Given the description of an element on the screen output the (x, y) to click on. 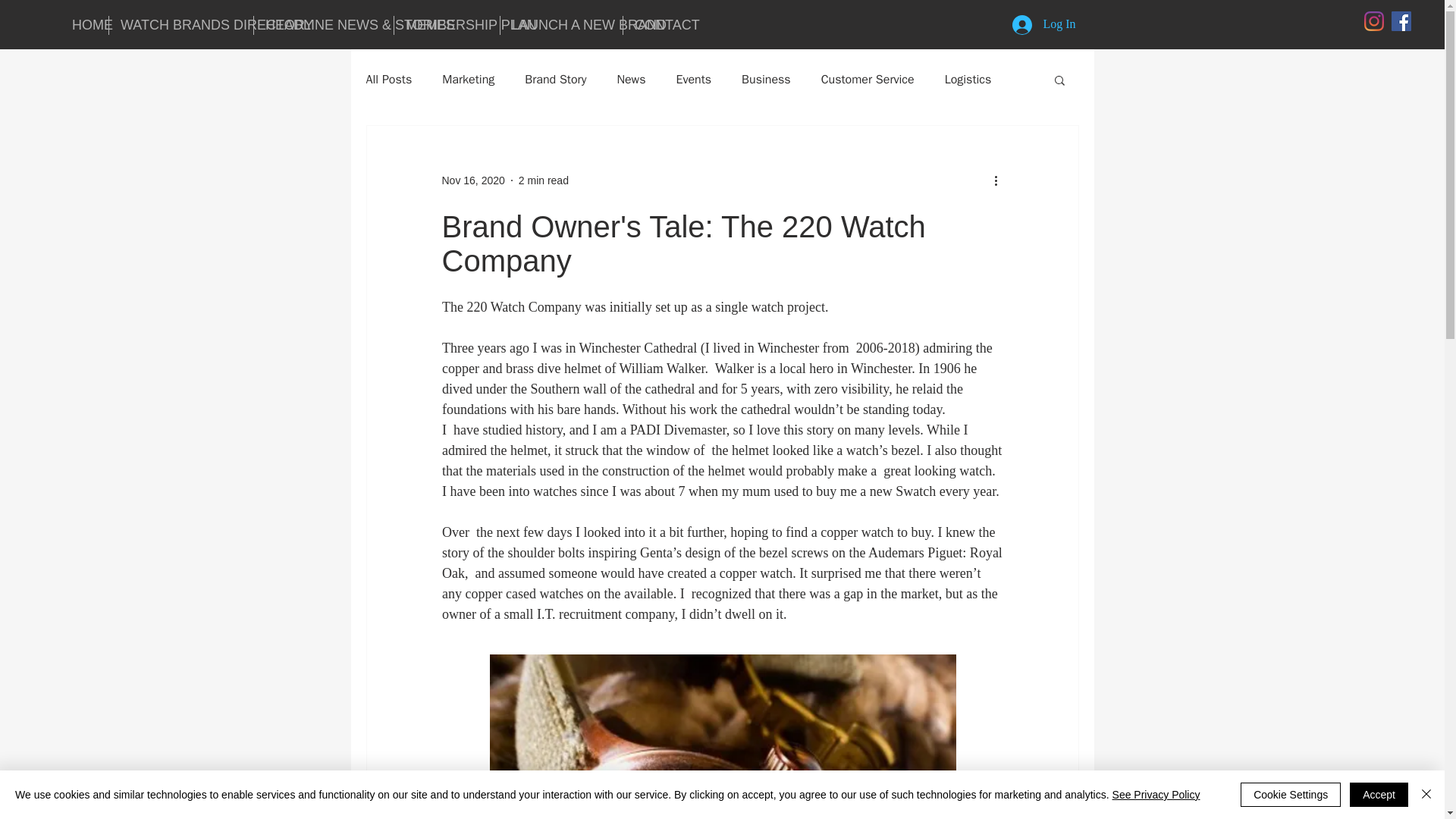
2 min read (543, 180)
Nov 16, 2020 (472, 180)
Events (693, 78)
LAUNCH A NEW BRAND (561, 25)
HOME (84, 25)
MEMBERSHIP PLAN (446, 25)
Business (765, 78)
Marketing (468, 78)
CONTACT (654, 25)
Log In (1043, 24)
